Given the description of an element on the screen output the (x, y) to click on. 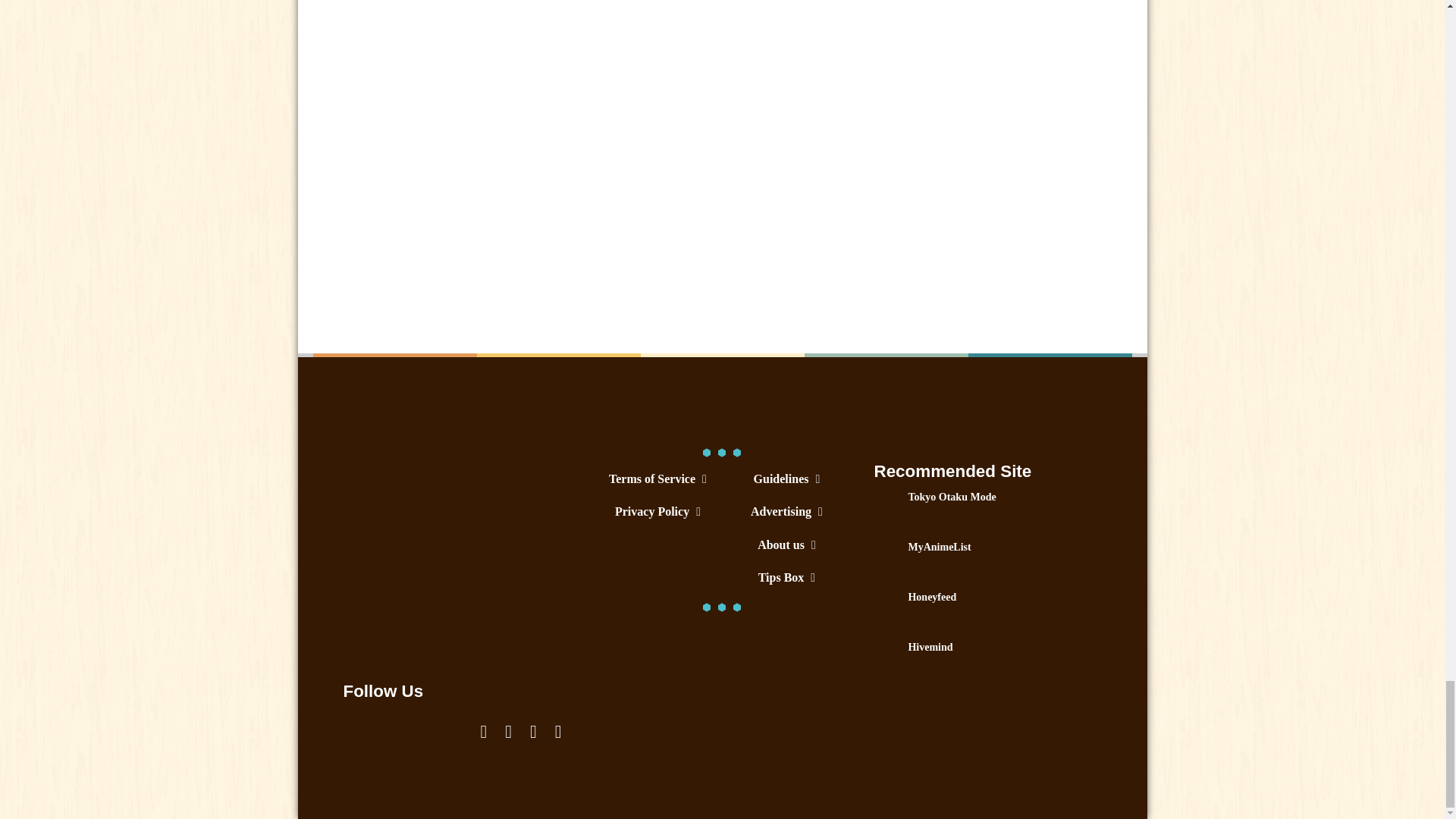
Guidelines (786, 478)
Privacy Policy (657, 511)
Terms of Service (657, 478)
Terms of Service Agreement (657, 478)
